Given the description of an element on the screen output the (x, y) to click on. 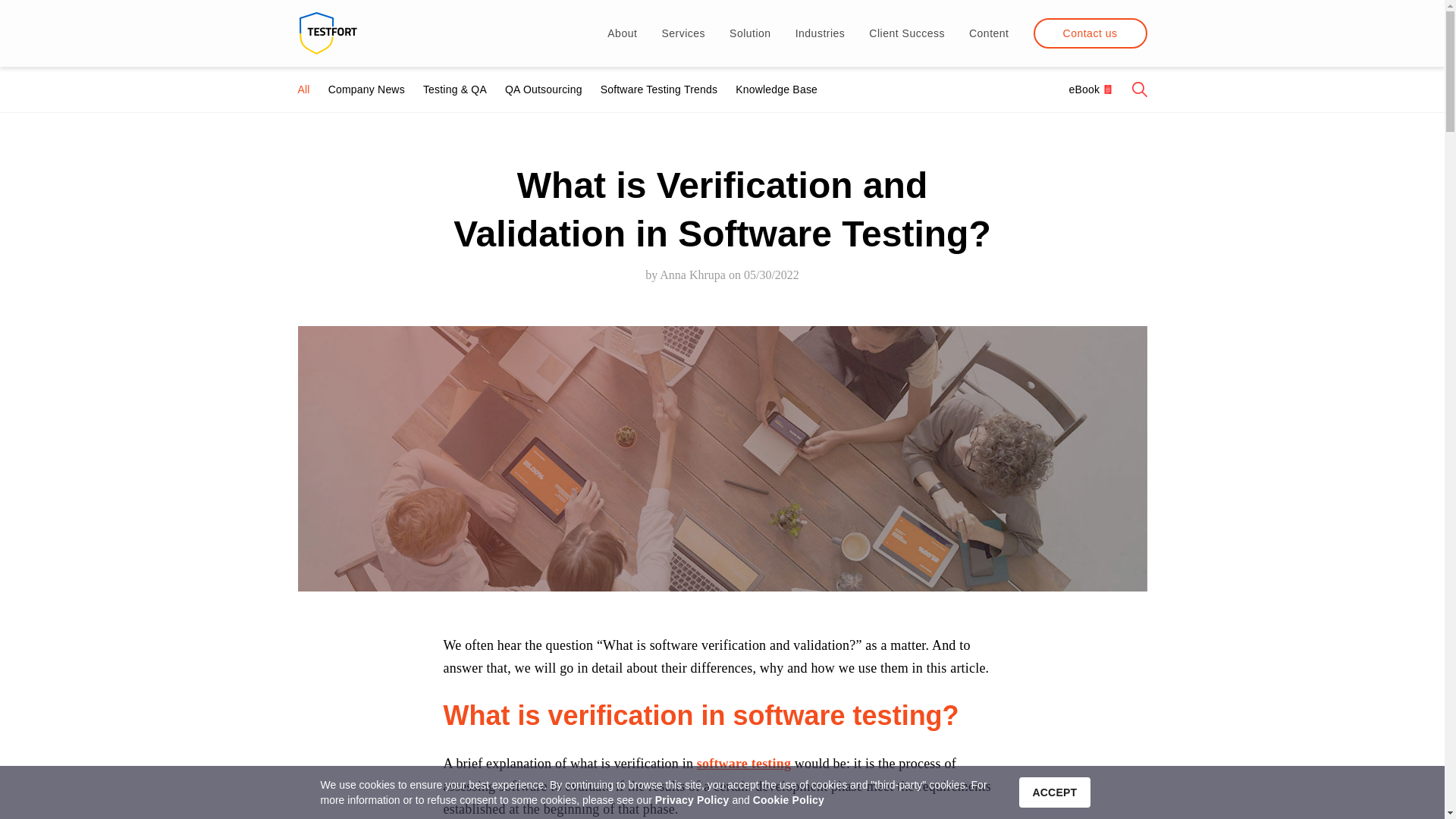
Solution (750, 33)
Client Success (906, 33)
Industries (819, 33)
Services (682, 33)
Content (989, 33)
About (622, 33)
